Given the description of an element on the screen output the (x, y) to click on. 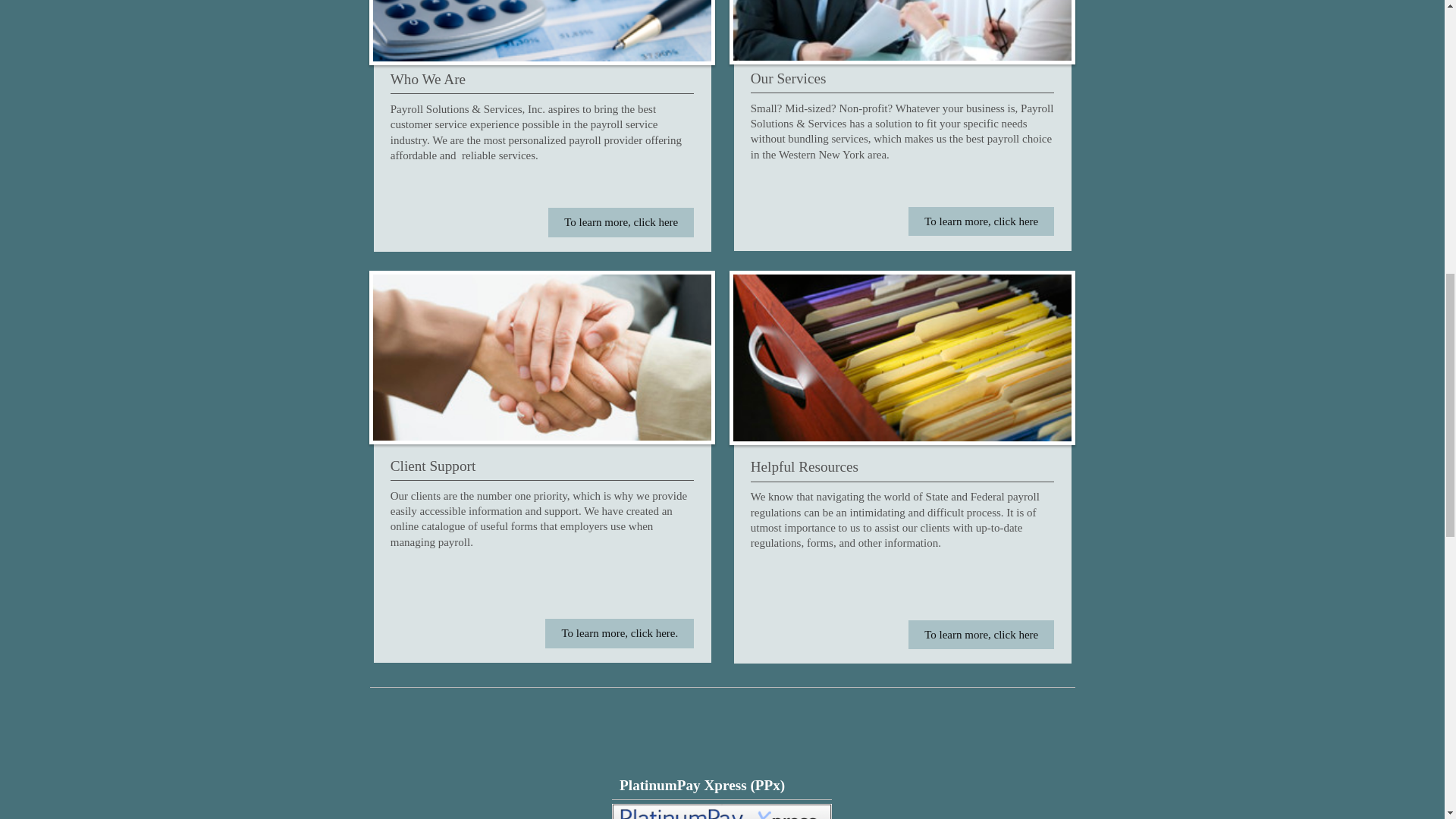
To learn more, click here. (619, 633)
To learn more, click here (981, 634)
To learn more, click here (981, 221)
To learn more, click here (621, 222)
